Given the description of an element on the screen output the (x, y) to click on. 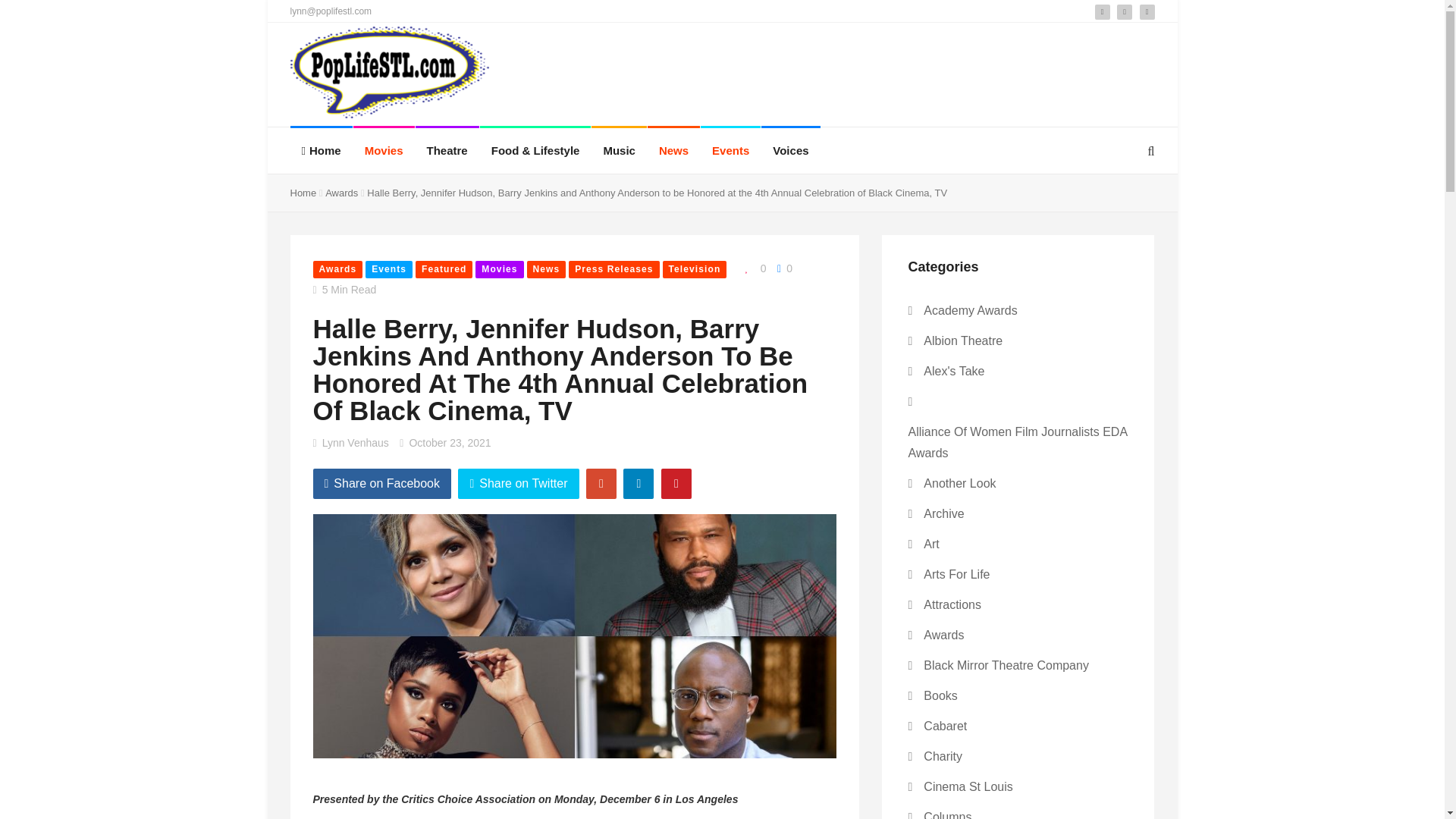
Share on Facebook! (382, 483)
Awards (341, 193)
Share on Pinterest! (676, 483)
Share on Facebook (382, 483)
0 (783, 268)
Lynn Venhaus (354, 442)
Movies (499, 269)
Share on Twitter! (518, 483)
Press Releases (614, 269)
Share on Linkedin! (638, 483)
Home (302, 193)
Like this (752, 268)
Share on Twitter (518, 483)
October 23, 2021 (449, 442)
Events (388, 269)
